Given the description of an element on the screen output the (x, y) to click on. 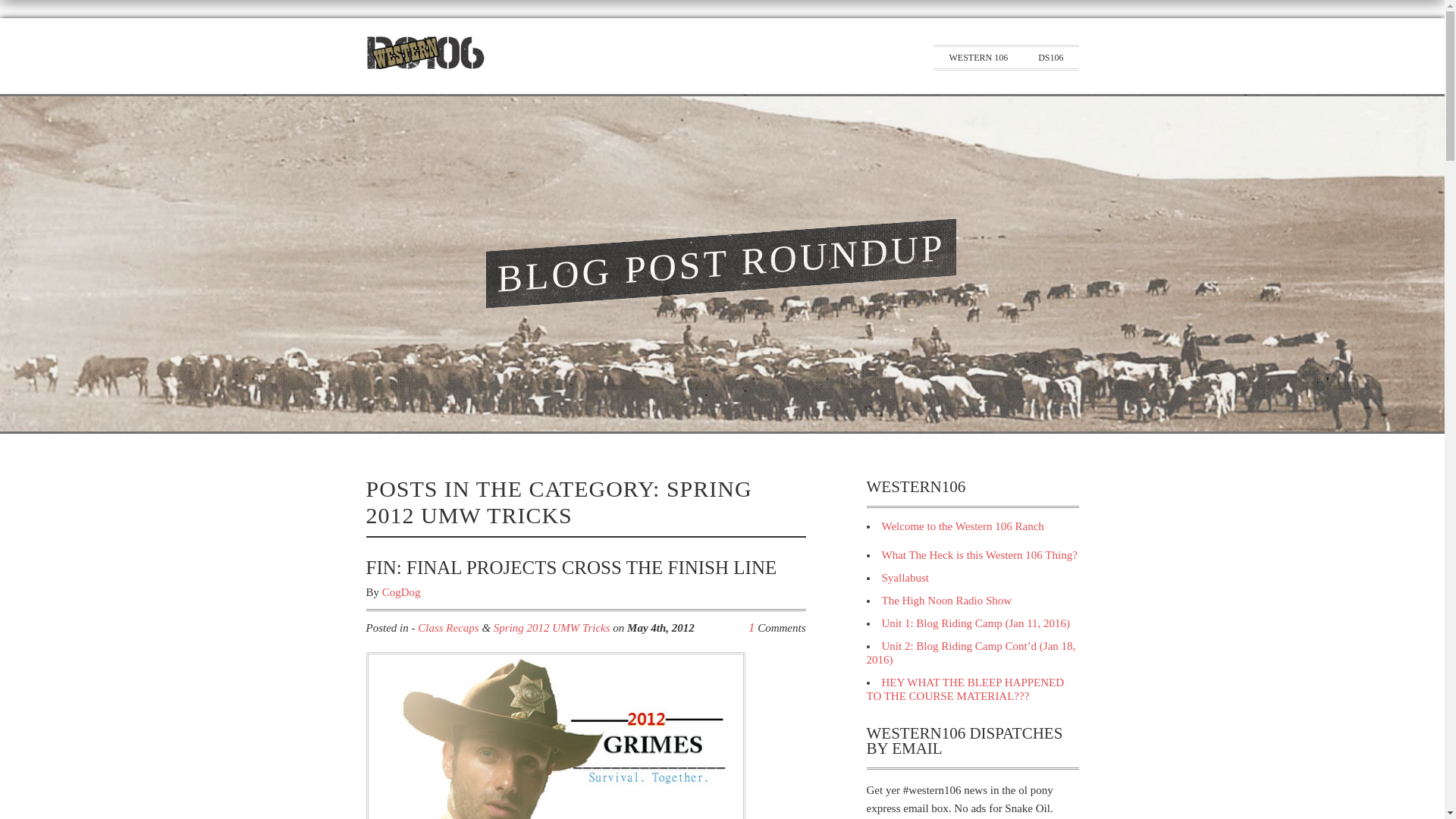
DS106 (1050, 57)
WESTERN 106 (978, 57)
FIN: FINAL PROJECTS CROSS THE FINISH LINE (570, 567)
CogDog (400, 592)
Spring 2012 UMW Tricks (551, 627)
Class Recaps (448, 627)
DS106 Tricks (425, 66)
Posts by CogDog (400, 592)
